Given the description of an element on the screen output the (x, y) to click on. 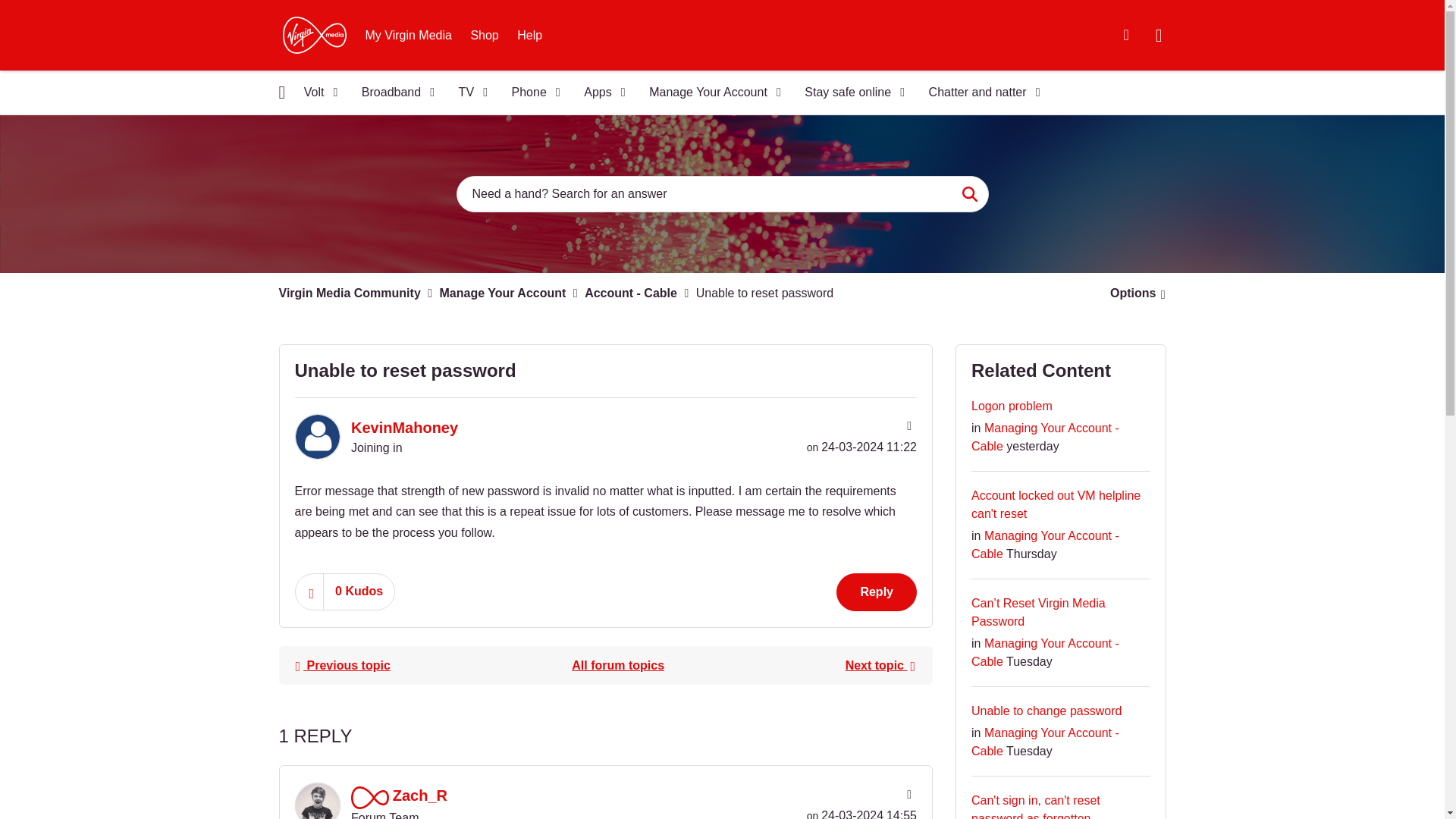
Broadband (392, 92)
Contract renewal (879, 665)
Phone (531, 92)
Click here to give kudos to this post. (309, 591)
Show option menu (907, 426)
Search (969, 193)
My Virgin Media (409, 34)
Community (282, 91)
Apps (599, 92)
Show option menu (1133, 293)
Where is the webchat support link has it been discontinued? (341, 665)
KevinMahoney (316, 436)
Virgin Media (314, 35)
Volt (315, 92)
Community FAQ (1126, 35)
